Given the description of an element on the screen output the (x, y) to click on. 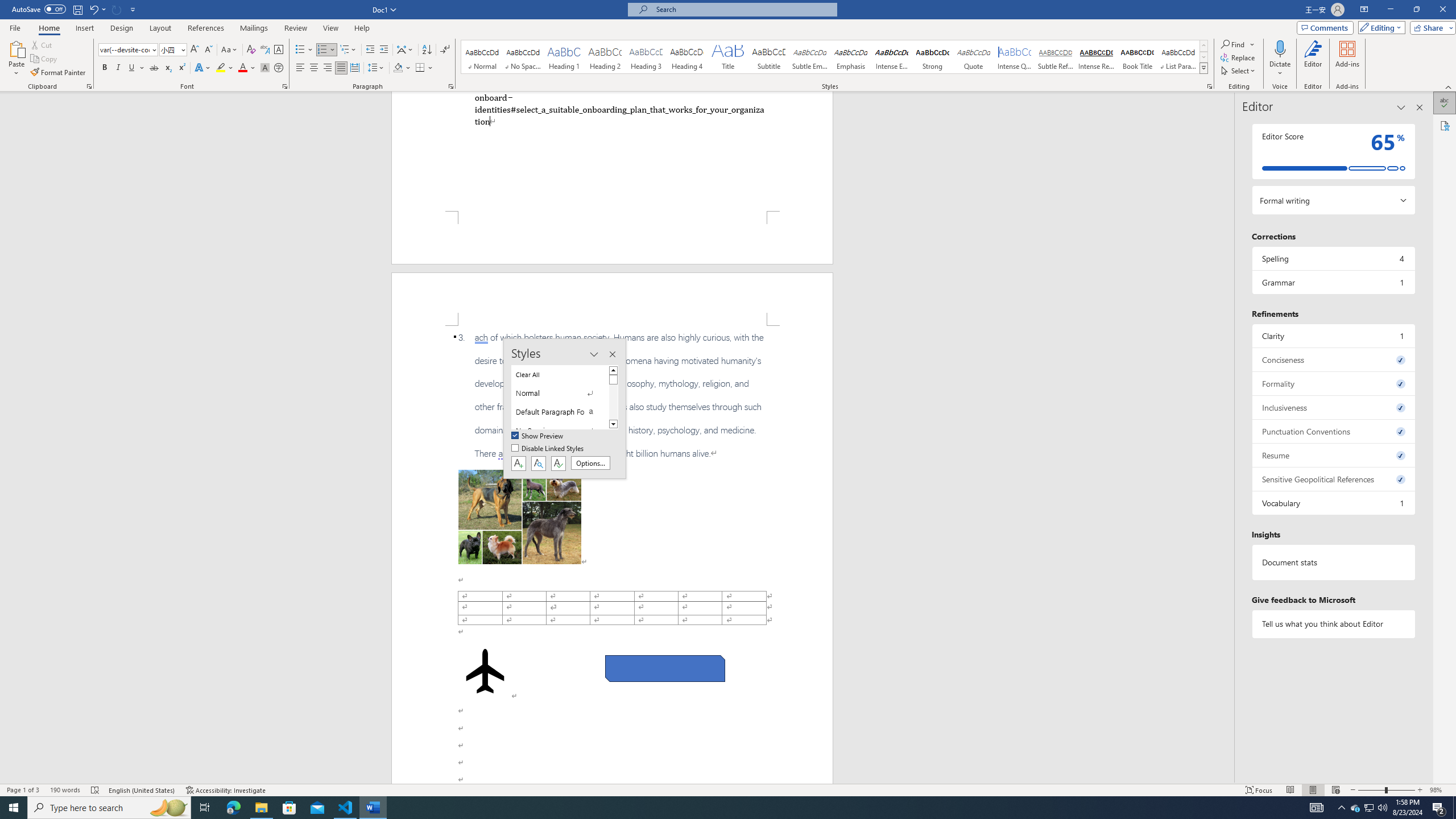
Row Down (1203, 56)
Editor Score 65% (1333, 151)
System (6, 6)
Copy (45, 58)
Microsoft search (742, 9)
Normal (559, 393)
No Spacing (559, 430)
3. (611, 395)
Review (295, 28)
2. (619, 108)
Help (361, 28)
Heading 4 (686, 56)
Underline (136, 67)
